Given the description of an element on the screen output the (x, y) to click on. 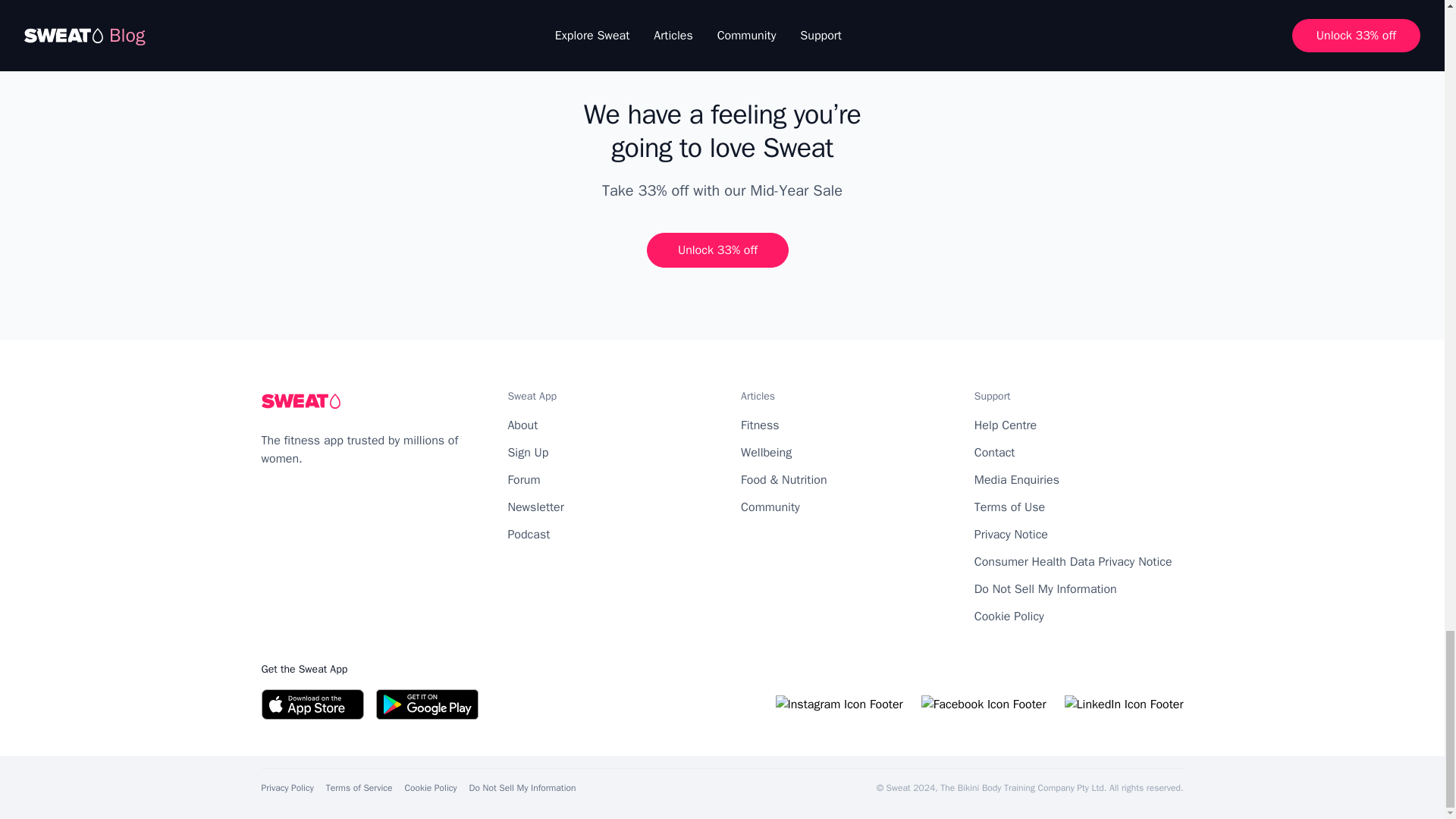
Fitness (759, 425)
Newsletter (534, 507)
About (521, 425)
Sign Up (527, 452)
Forum (523, 479)
Podcast (528, 534)
